Given the description of an element on the screen output the (x, y) to click on. 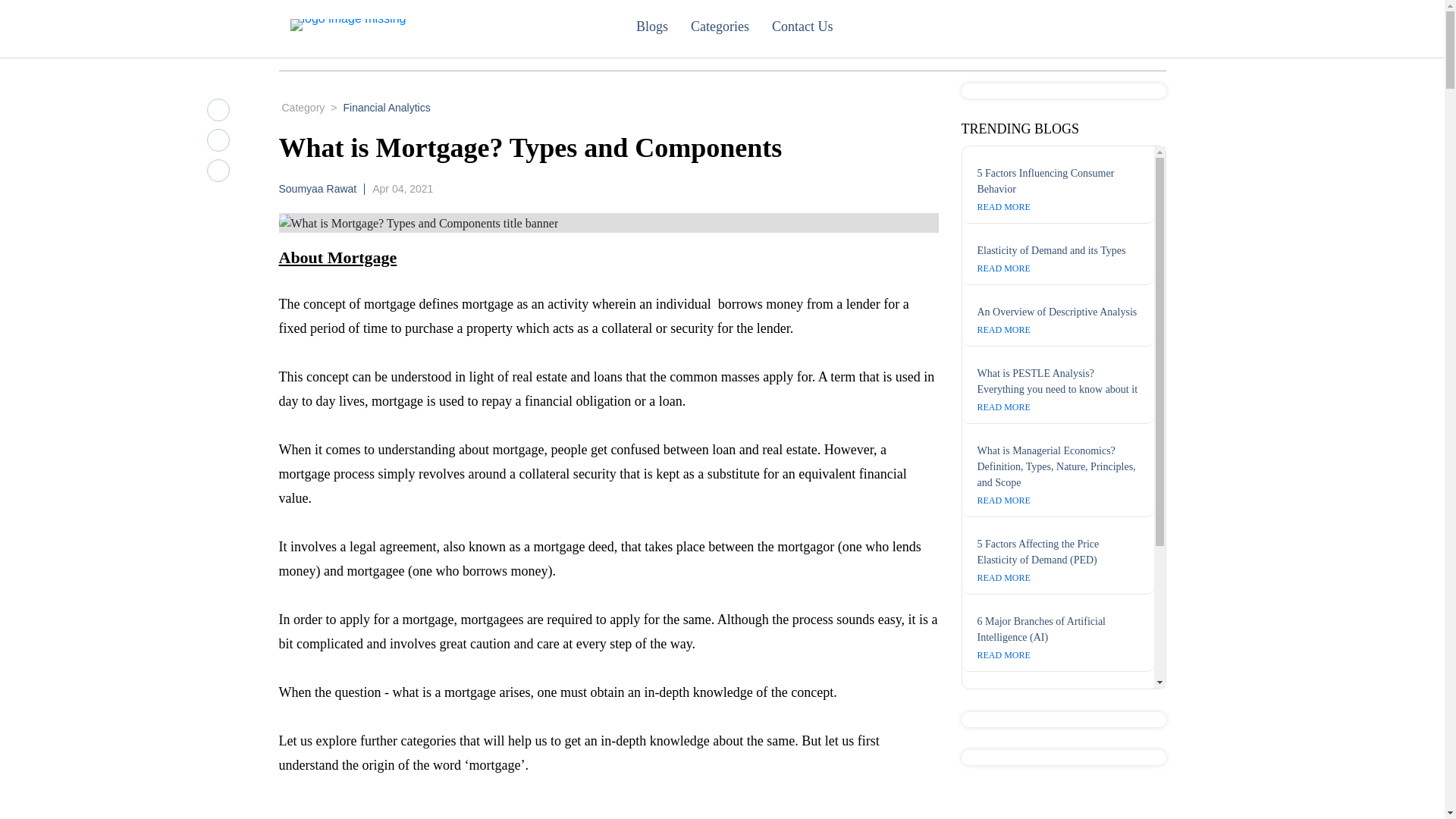
READ MORE (1002, 206)
READ MORE (1002, 793)
Blogs (663, 26)
READ MORE (1002, 407)
Categories (730, 26)
READ MORE (1002, 500)
READ MORE (1002, 577)
READ MORE (1002, 716)
READ MORE (1002, 329)
Contact Us (813, 26)
